Given the description of an element on the screen output the (x, y) to click on. 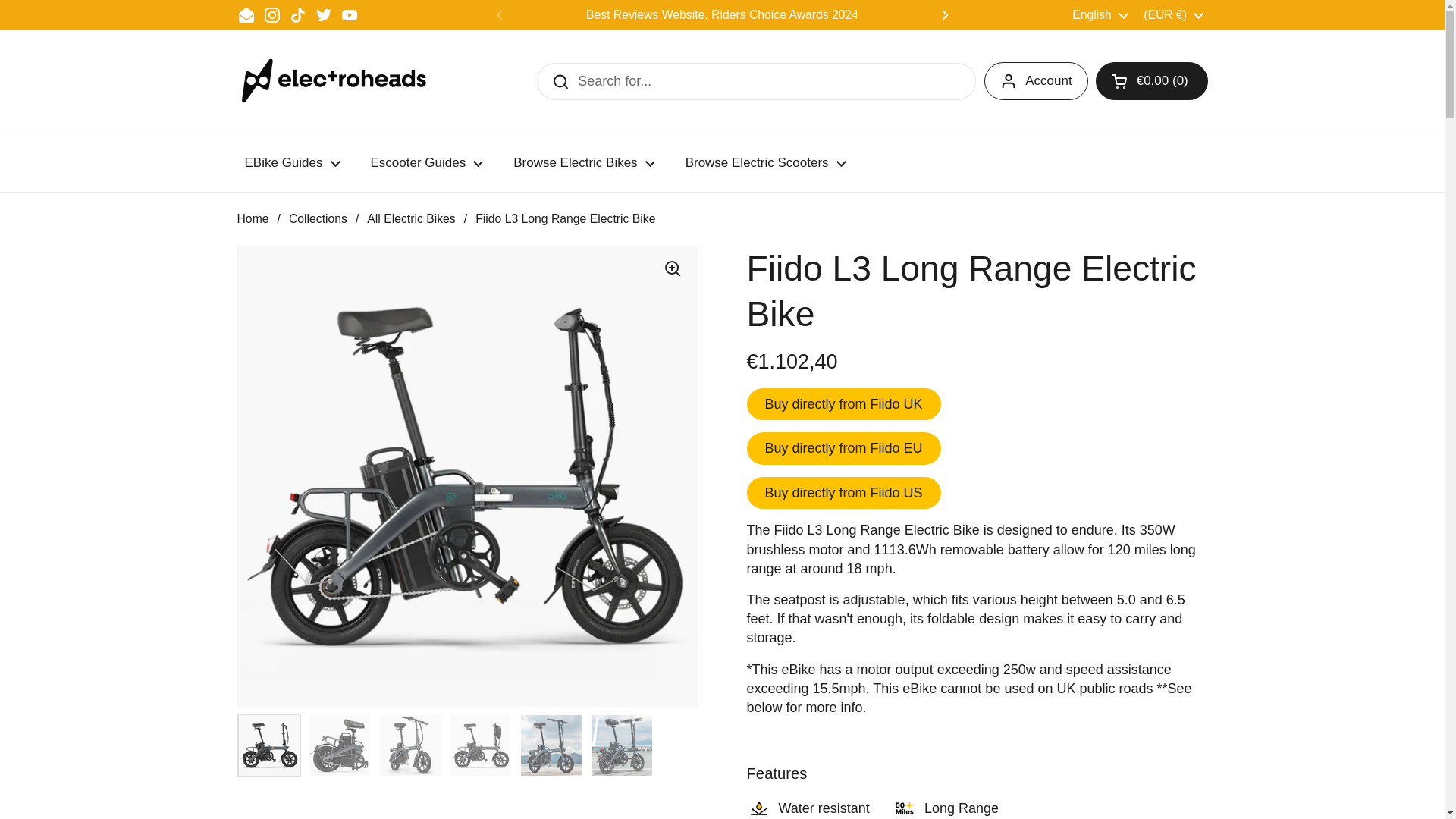
English (1099, 14)
Read our expert guides (1168, 14)
Electroheads Media Ltd (340, 81)
Account (1035, 80)
Email (244, 14)
Escooter Guides (426, 162)
Instagram (271, 14)
TikTok (296, 14)
Open cart (1152, 80)
Browse Electric Bikes (583, 162)
EBike Guides (291, 162)
Twitter (322, 14)
YouTube (348, 14)
